Given the description of an element on the screen output the (x, y) to click on. 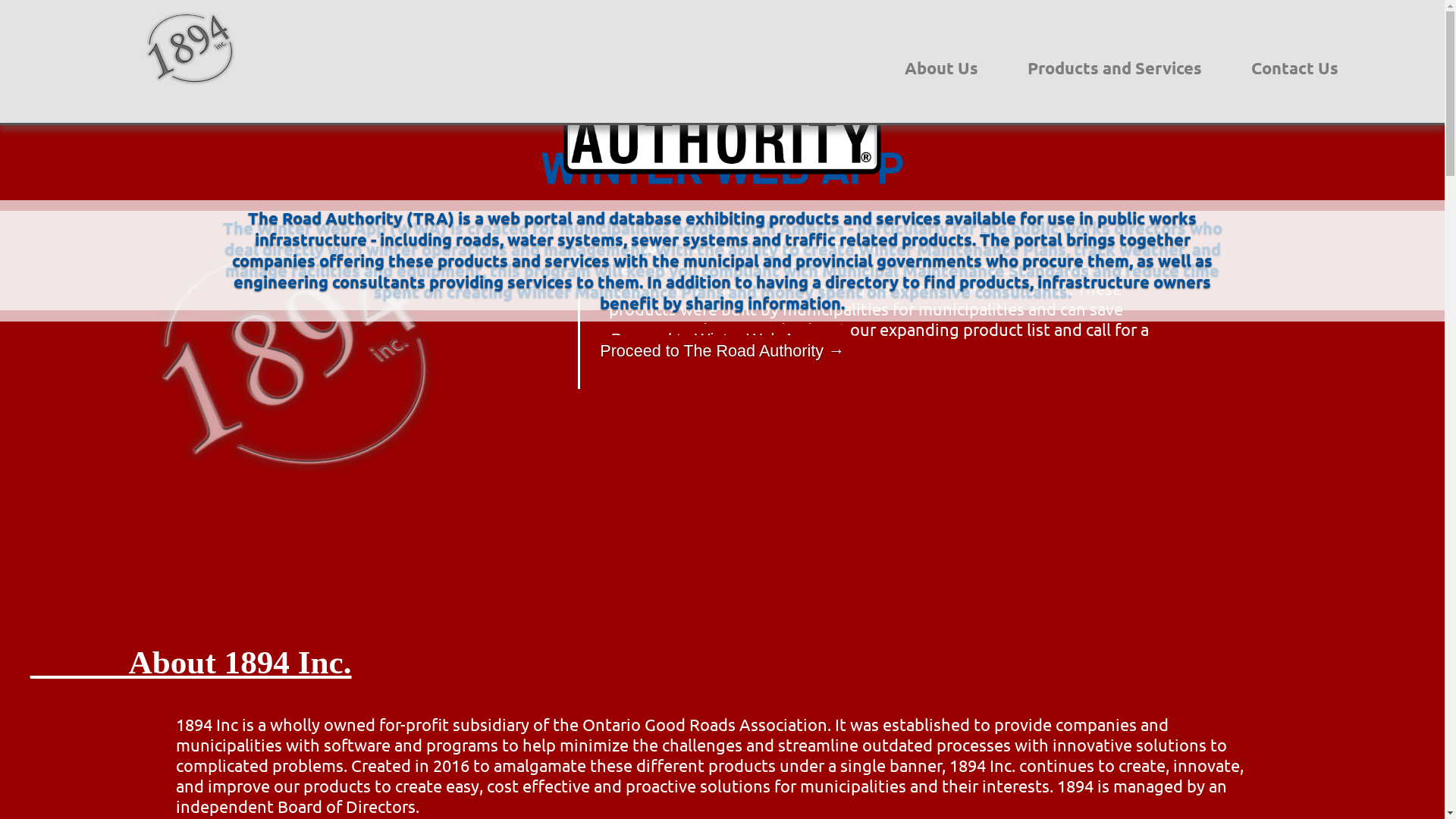
Products and Services Element type: text (1114, 67)
Contact Us Element type: text (1294, 67)
About Us Element type: text (941, 67)
